Given the description of an element on the screen output the (x, y) to click on. 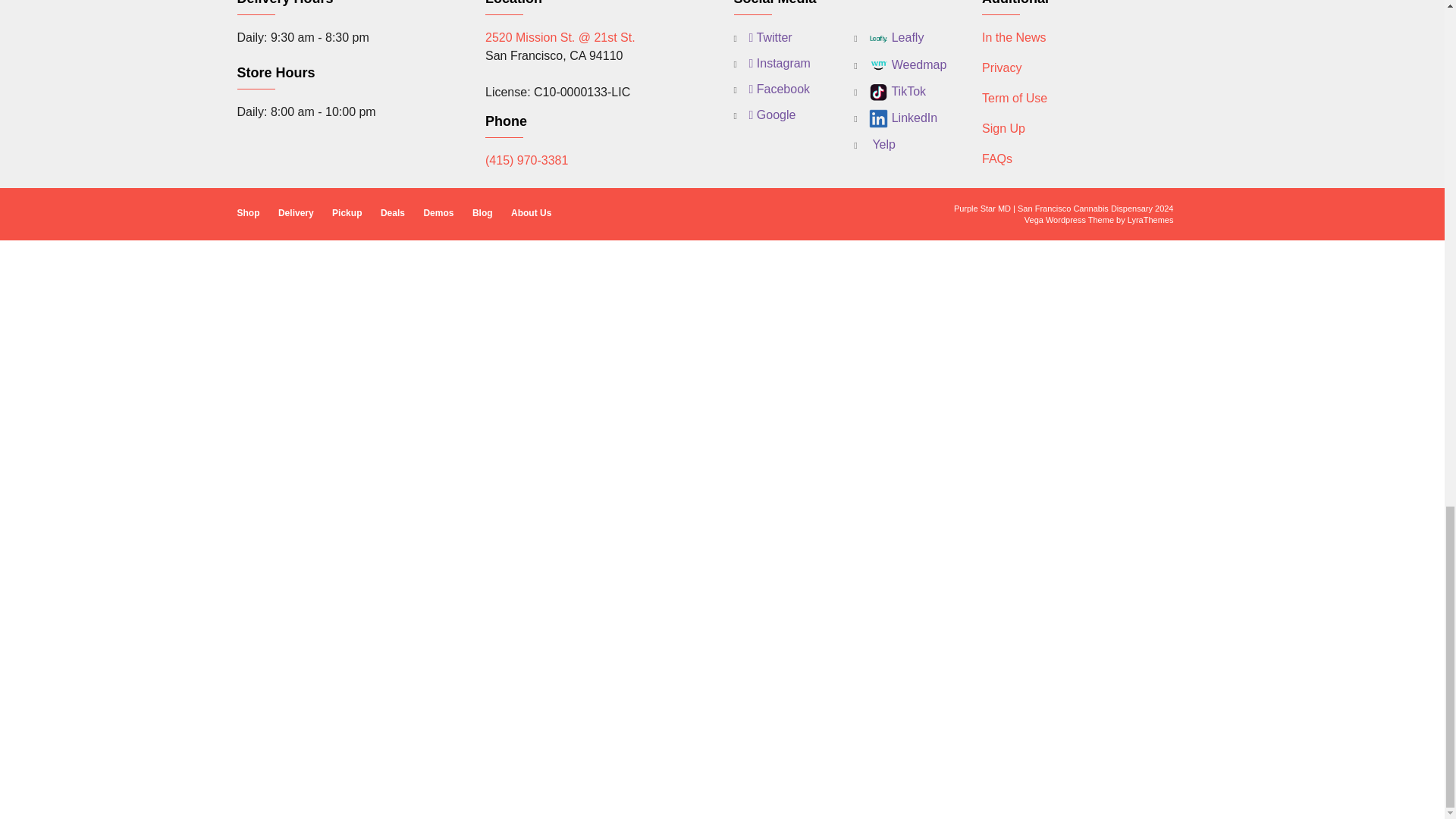
TikTok (889, 91)
Deals (392, 212)
Yelp (874, 144)
In the News (1013, 37)
Twitter (762, 37)
Google (764, 115)
Delivery (296, 212)
Facebook (771, 89)
Leafly (888, 37)
Blog (482, 212)
Term of Use (1013, 97)
LyraThemes (1149, 219)
FAQs (996, 158)
About Us (531, 212)
Demos (437, 212)
